Given the description of an element on the screen output the (x, y) to click on. 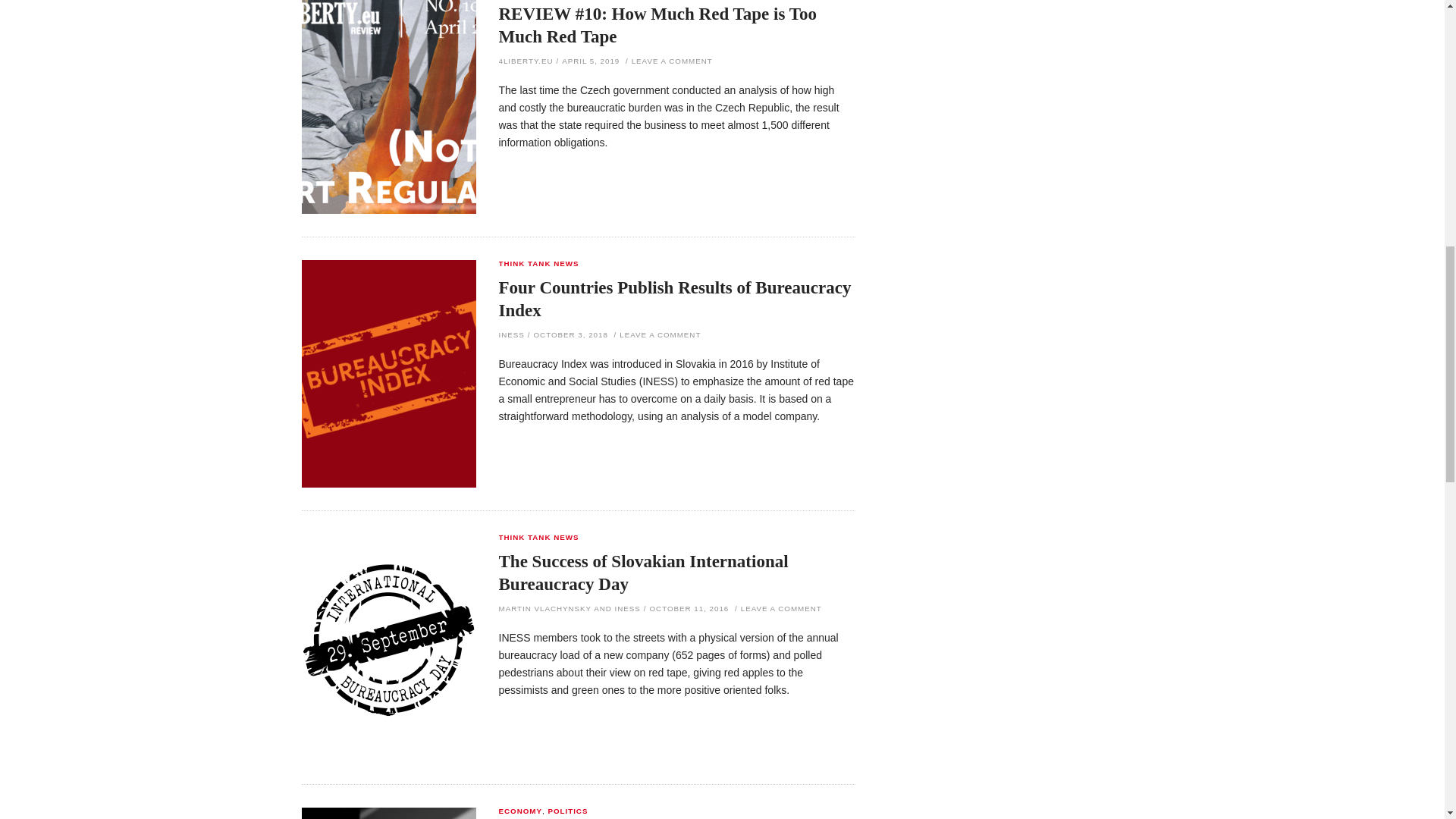
Posts by 4liberty.eu (526, 60)
Posts by Martin Vlachynsky (545, 608)
Posts by INESS (511, 334)
Posts by INESS (627, 608)
